Given the description of an element on the screen output the (x, y) to click on. 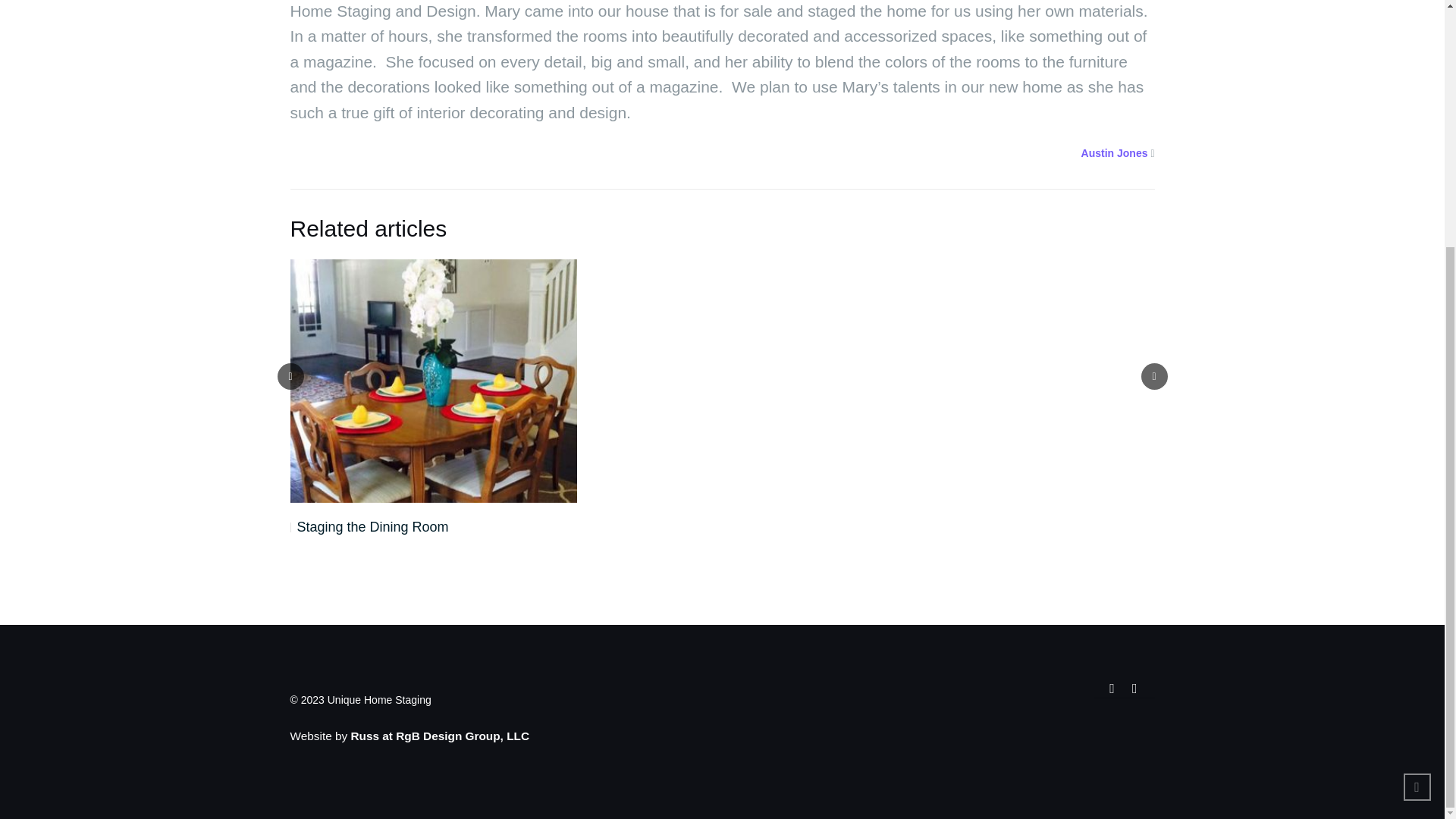
Austin Jones (1114, 152)
Russ at RgB Design Group, LLC (439, 735)
Staging the Dining Room (368, 526)
Russ at RgB Design Group, LLC (439, 735)
